Given the description of an element on the screen output the (x, y) to click on. 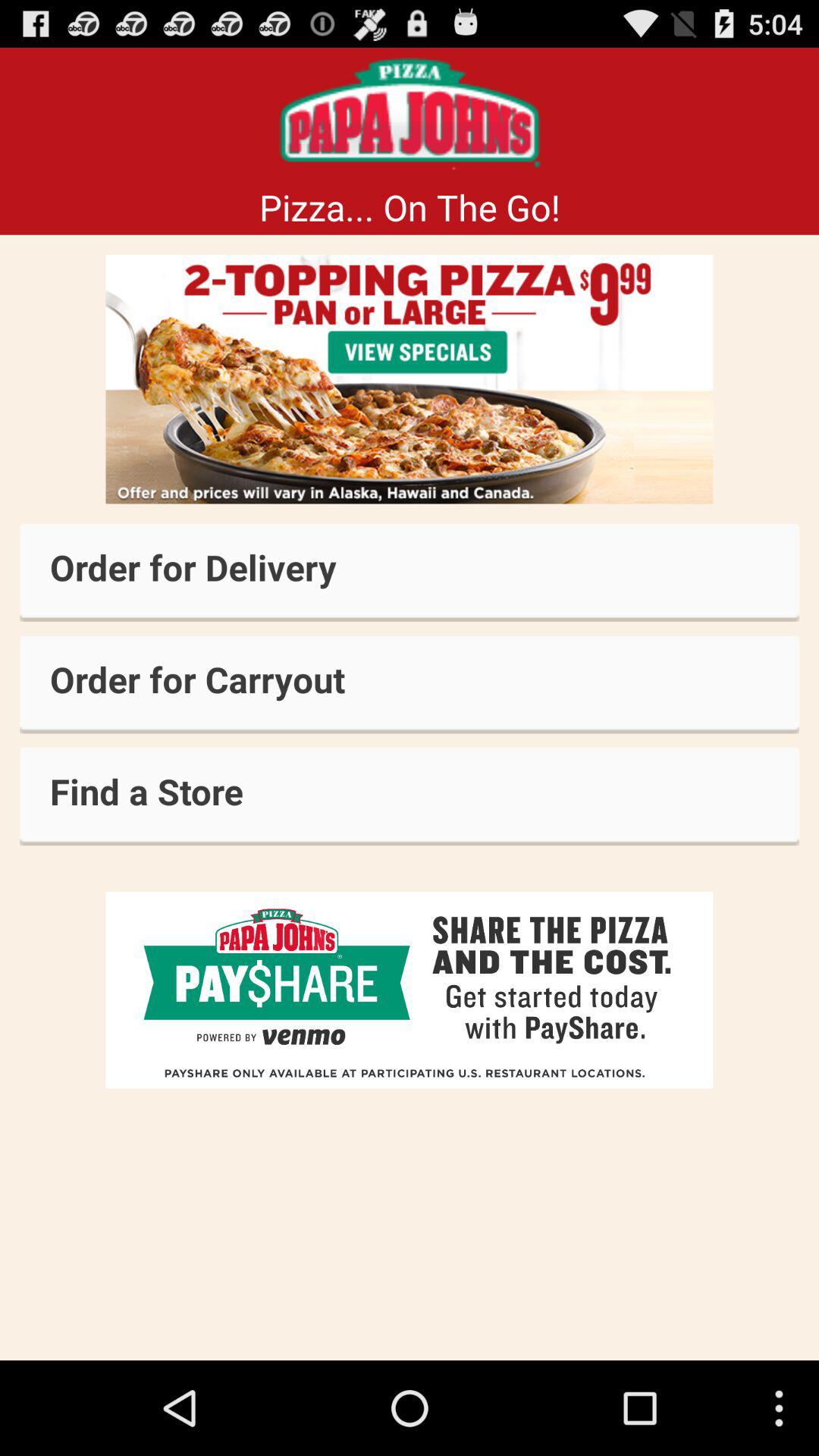
turn on find a store icon (409, 796)
